Given the description of an element on the screen output the (x, y) to click on. 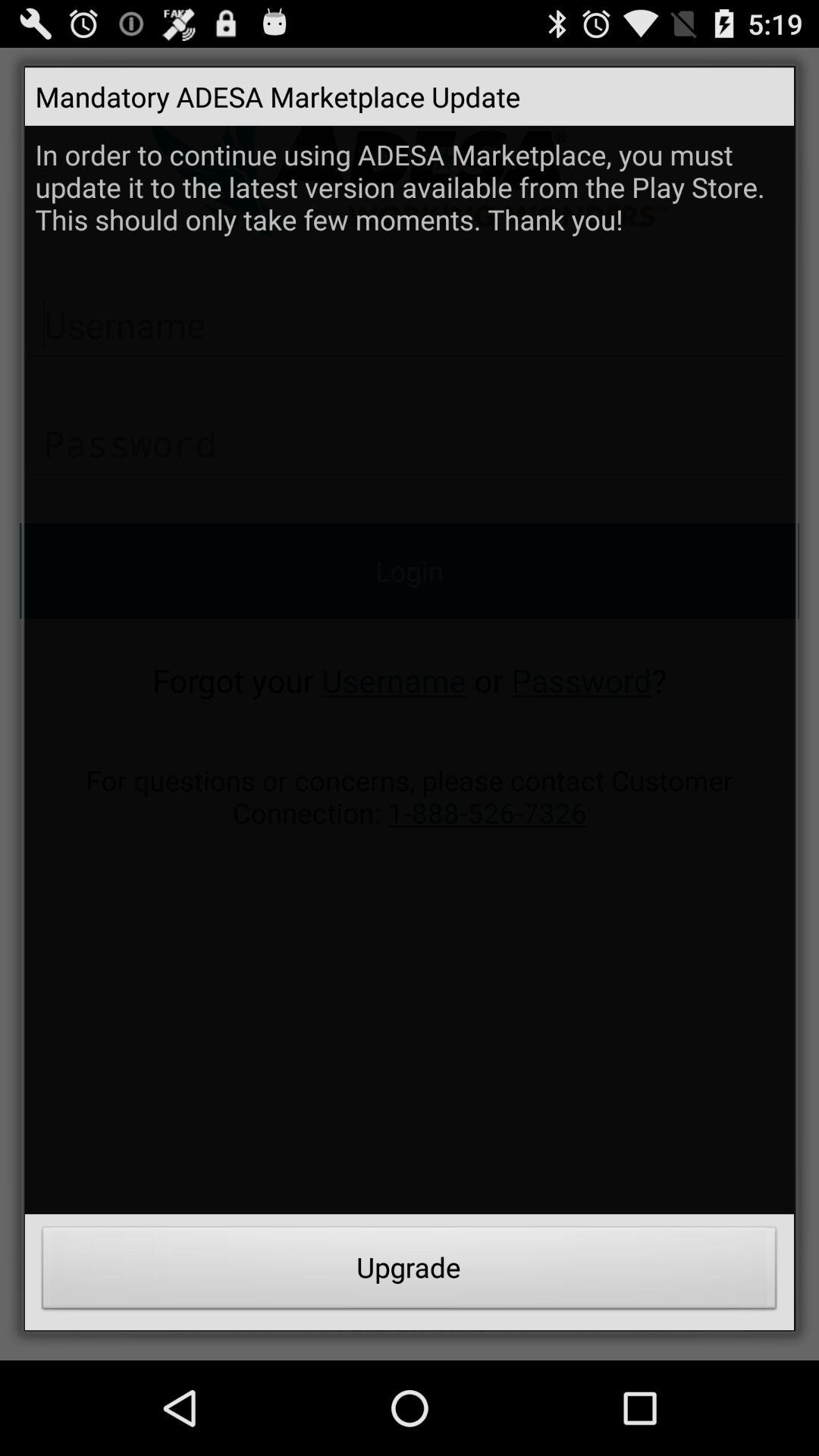
flip until the upgrade (409, 1272)
